Given the description of an element on the screen output the (x, y) to click on. 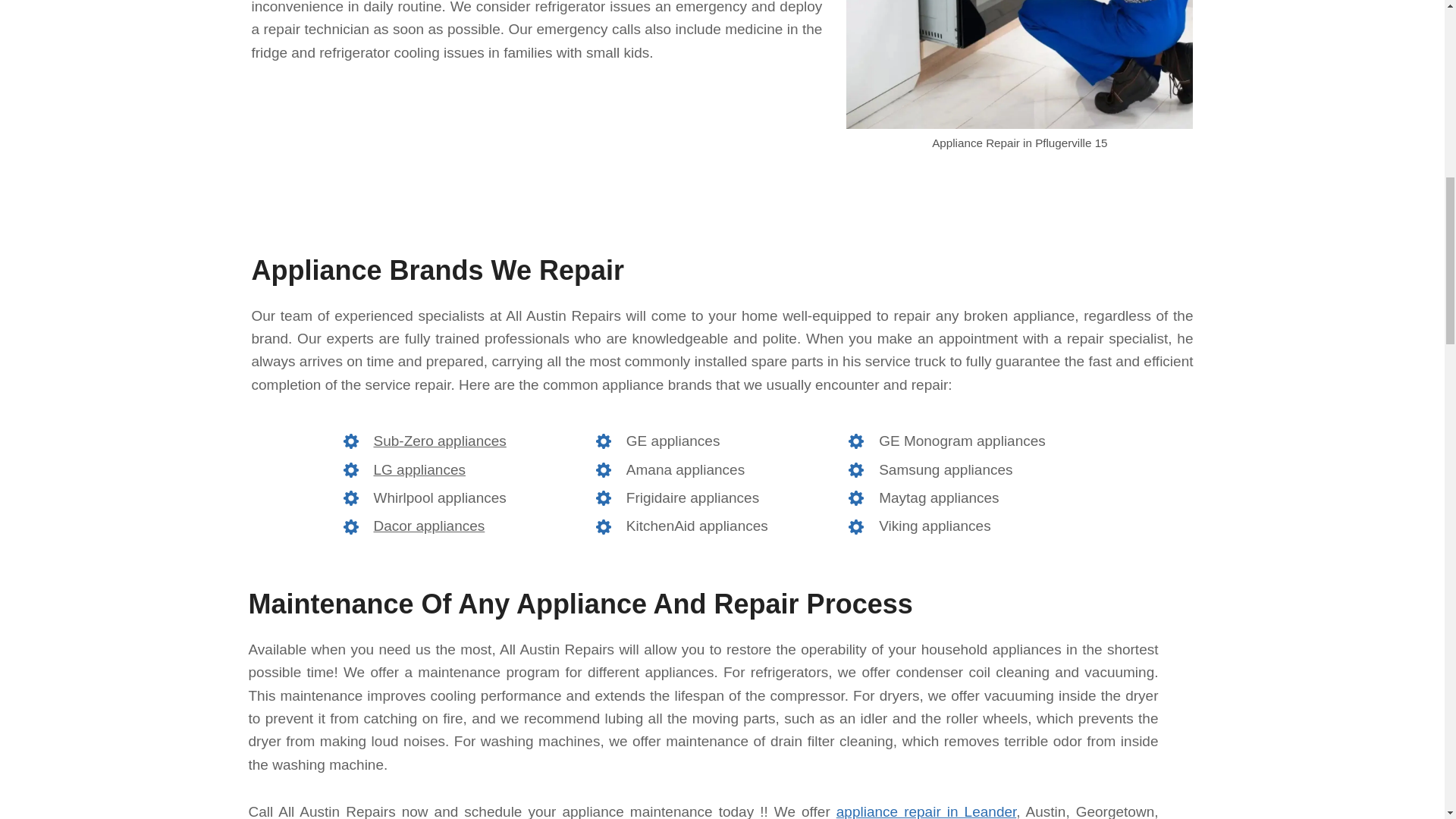
Appliance Repair in Pflugerville 1 (1018, 64)
appliance repair in Leander (925, 811)
LG appliances (418, 469)
Sub-Zero appliances (438, 440)
Dacor appliances (428, 525)
